Given the description of an element on the screen output the (x, y) to click on. 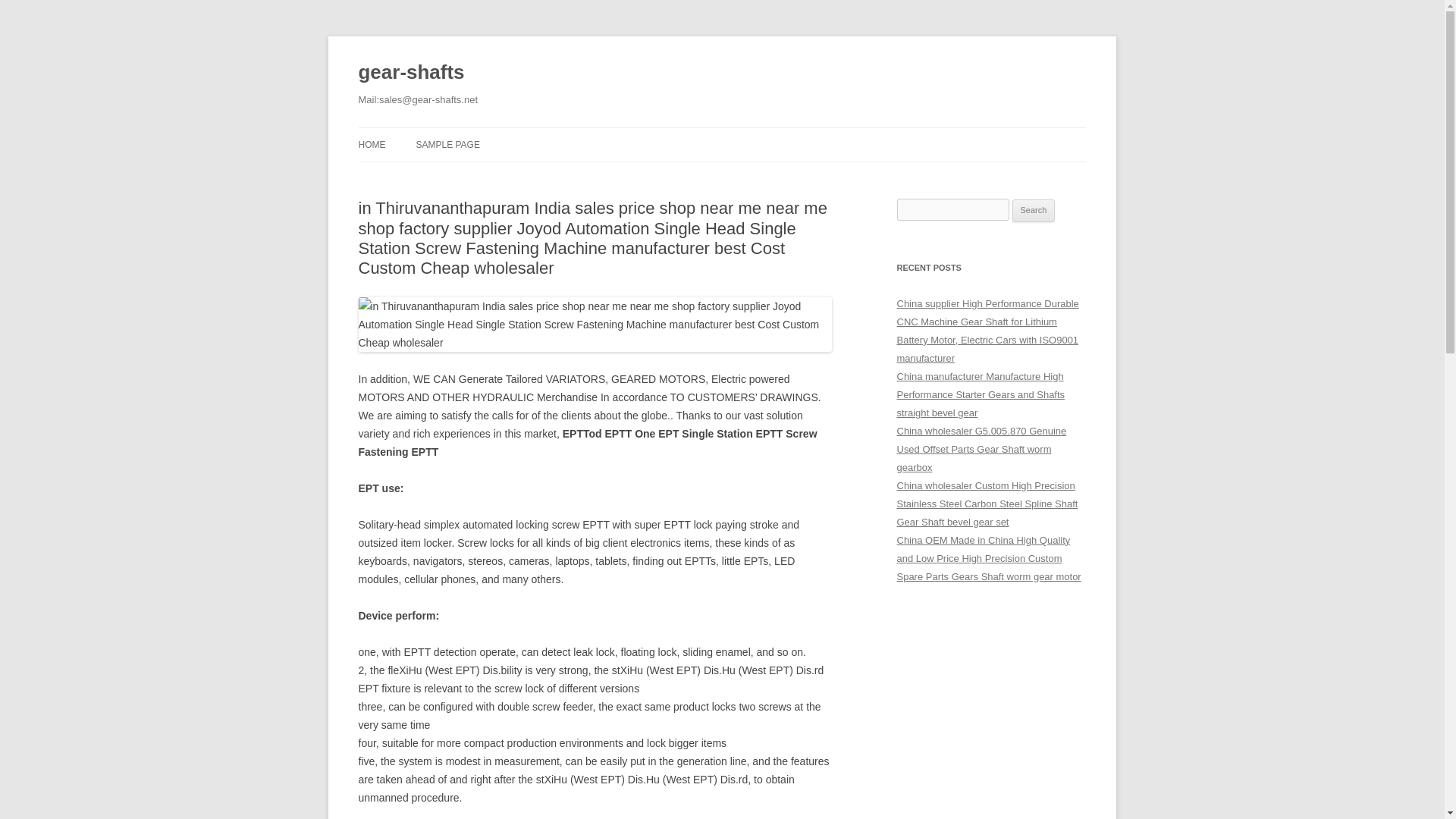
gear-shafts (411, 72)
gear-shafts (411, 72)
SAMPLE PAGE (446, 144)
Search (1033, 210)
Search (1033, 210)
